Given the description of an element on the screen output the (x, y) to click on. 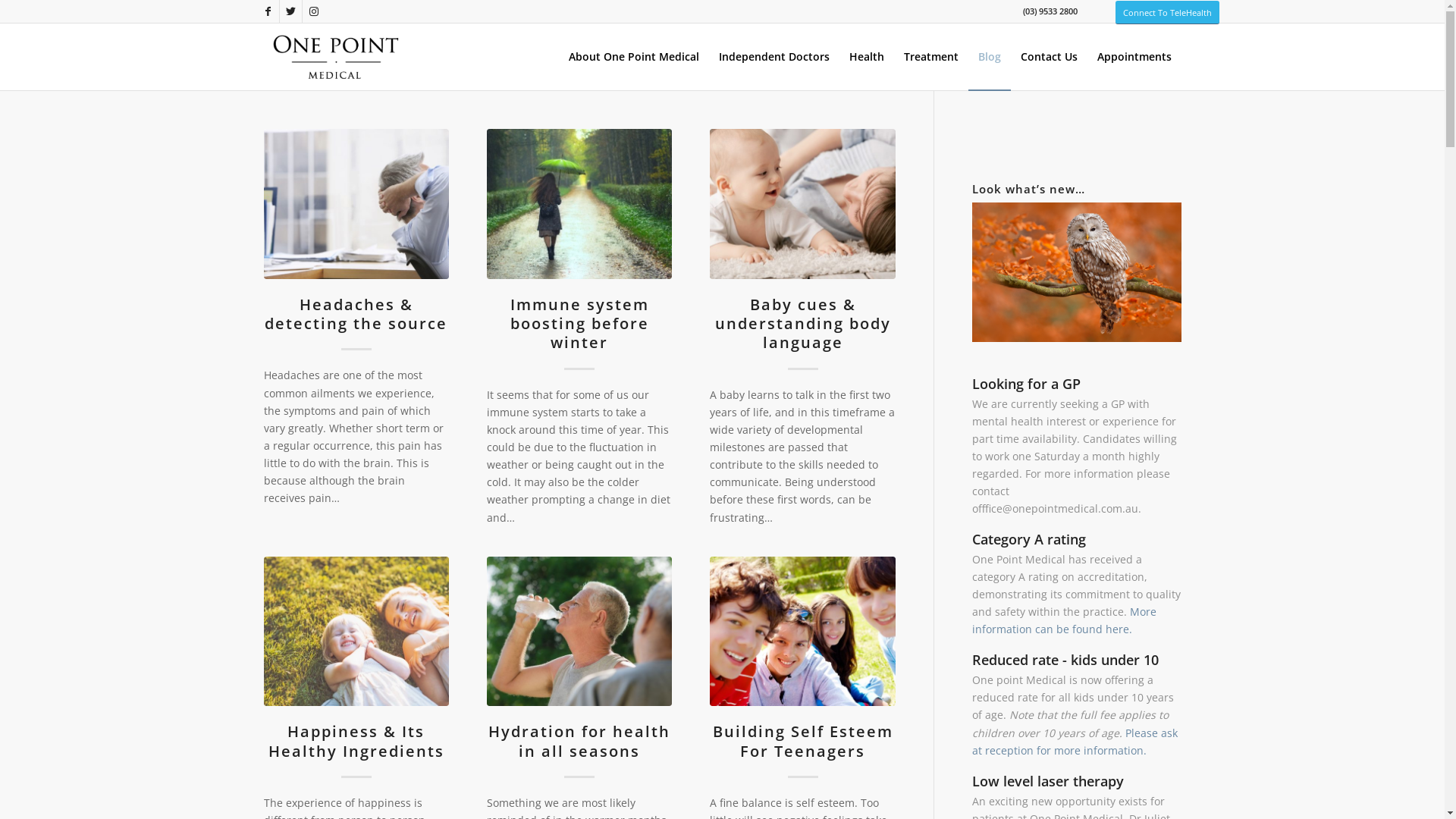
Headaches & detecting the source Element type: text (355, 313)
Happiness & Its Healthy Ingredients Element type: hover (355, 631)
Connect To TeleHealth Element type: text (1166, 12)
Blog Element type: text (988, 56)
Headaches & detecting the source Element type: hover (355, 203)
About One Point Medical Element type: text (633, 56)
Please ask at reception for more information. Element type: text (1074, 741)
Health Element type: text (865, 56)
Building Self Esteem For Teenagers Element type: hover (801, 631)
Happiness & Its Healthy Ingredients Element type: text (356, 740)
Building Self Esteem For Teenagers Element type: text (802, 740)
Hydration for health in all seasons Element type: hover (578, 631)
More information can be found here. Element type: text (1064, 620)
Twitter Element type: hover (290, 11)
Baby cues & understanding body language Element type: text (803, 323)
Immune system boosting before winter Element type: hover (578, 203)
Treatment Element type: text (930, 56)
Hydration for health in all seasons Element type: text (579, 740)
Independent Doctors Element type: text (773, 56)
Baby cues & understanding body language Element type: hover (801, 203)
Immune system boosting before winter Element type: text (579, 323)
Appointments Element type: text (1134, 56)
Facebook Element type: hover (267, 11)
Instagram Element type: hover (312, 11)
Contact Us Element type: text (1048, 56)
